Given the description of an element on the screen output the (x, y) to click on. 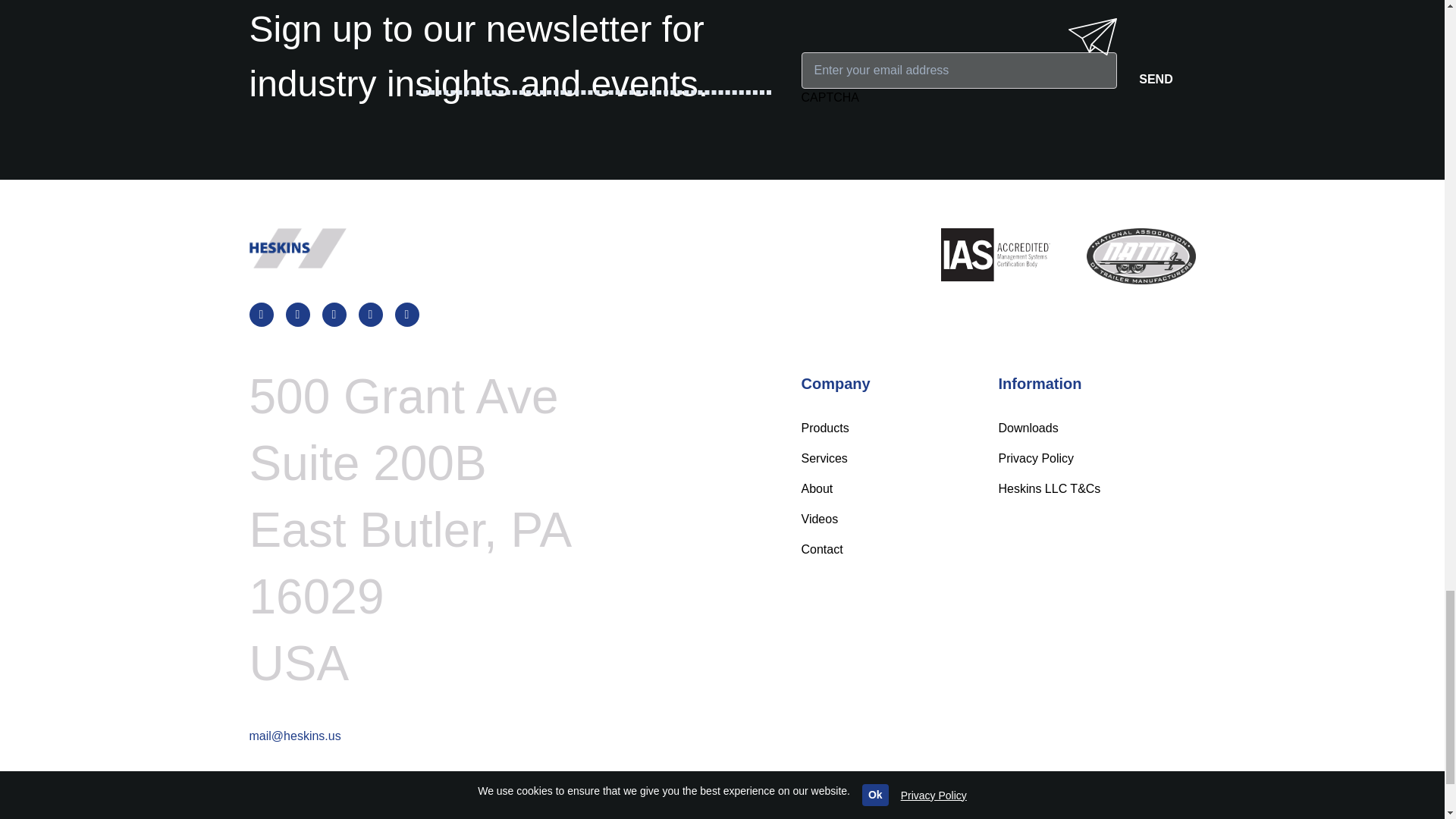
Send (1155, 79)
